Given the description of an element on the screen output the (x, y) to click on. 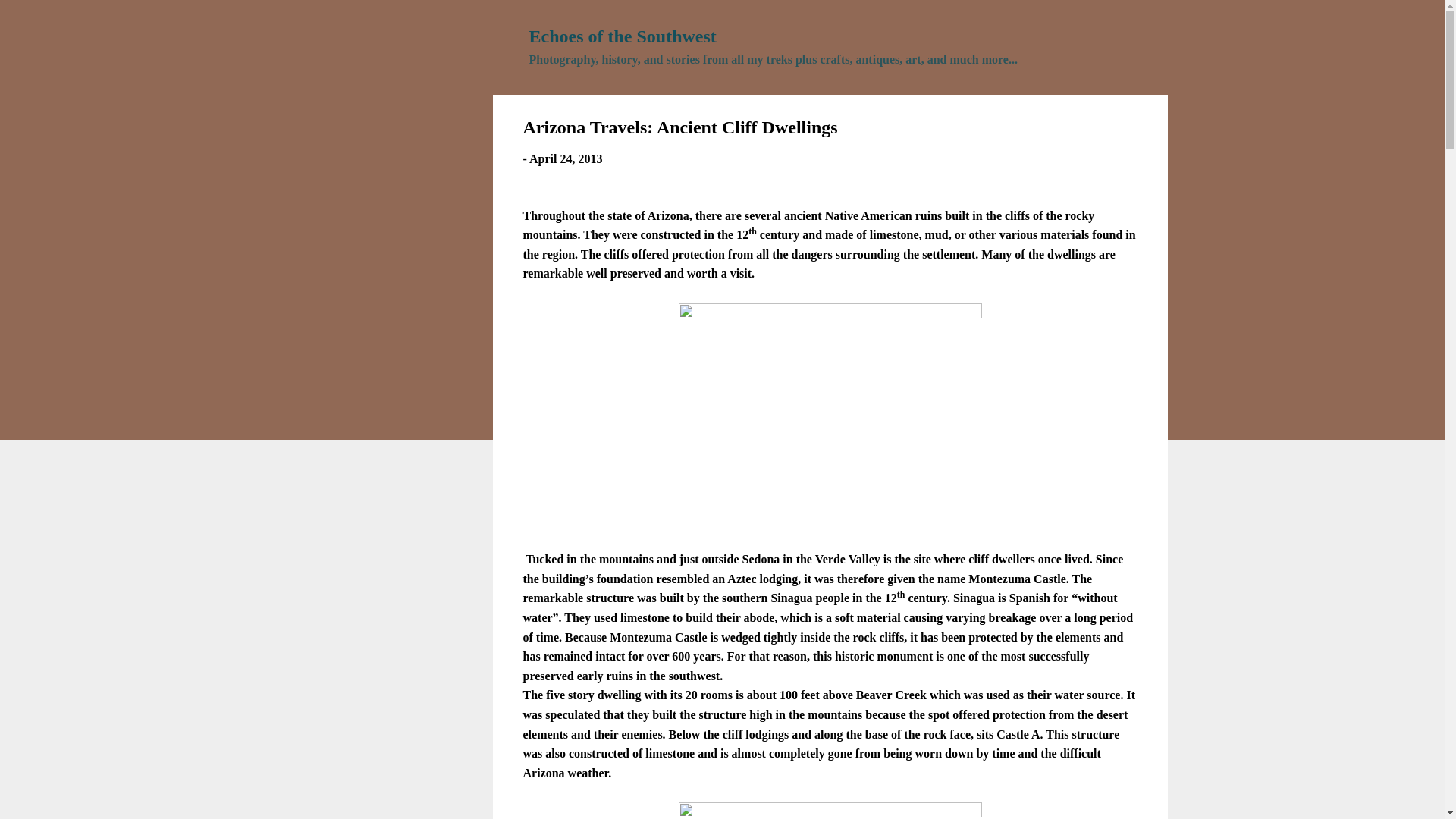
April 24, 2013 (565, 158)
Echoes of the Southwest (622, 35)
permanent link (565, 158)
Search (31, 18)
